Given the description of an element on the screen output the (x, y) to click on. 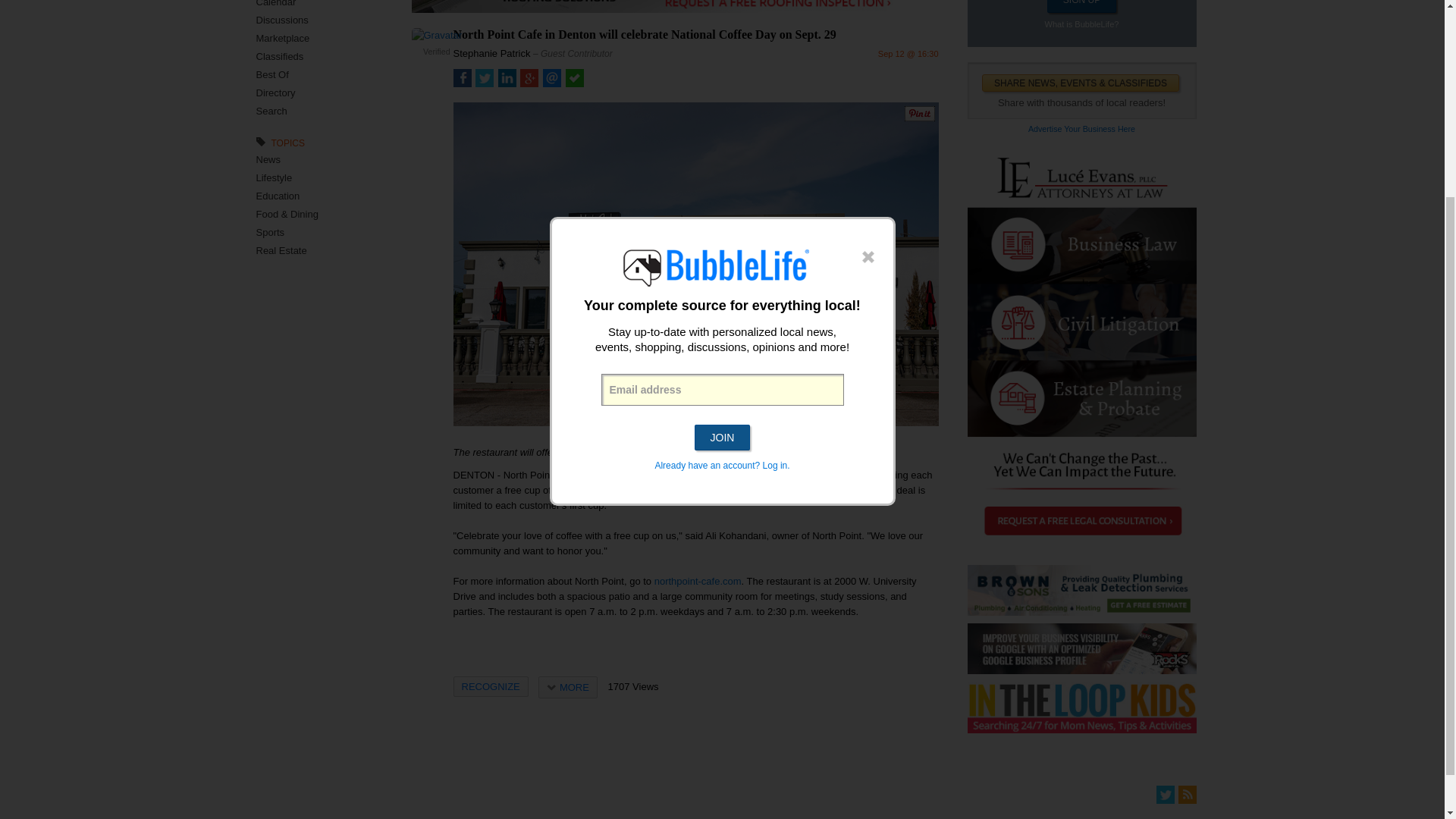
Sign Up (1081, 6)
Join (722, 173)
Already have an account? Log in. (721, 201)
Join (722, 173)
